Given the description of an element on the screen output the (x, y) to click on. 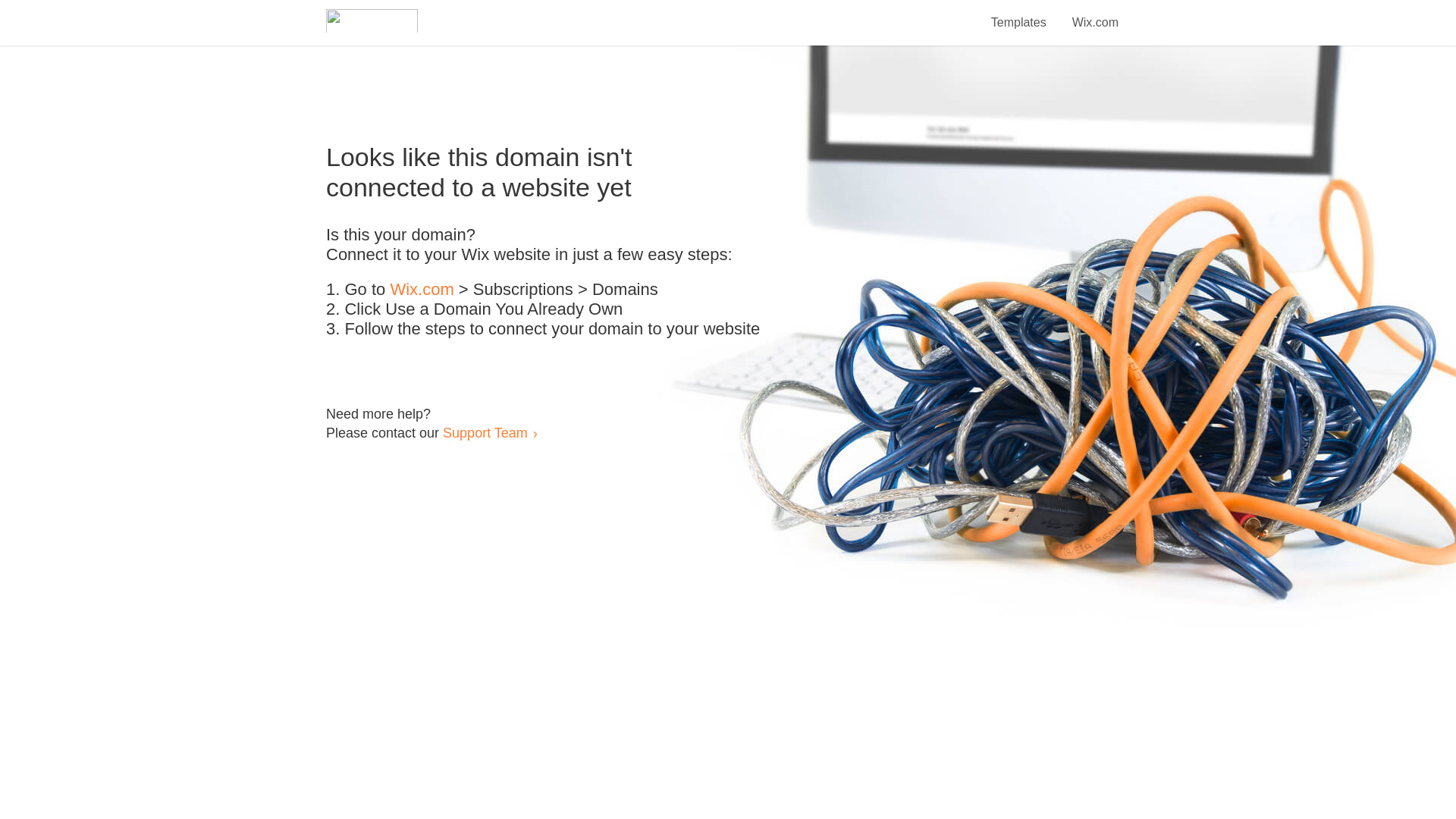
Templates (1018, 14)
Wix.com (1095, 14)
Wix.com (421, 289)
Support Team (484, 432)
